Given the description of an element on the screen output the (x, y) to click on. 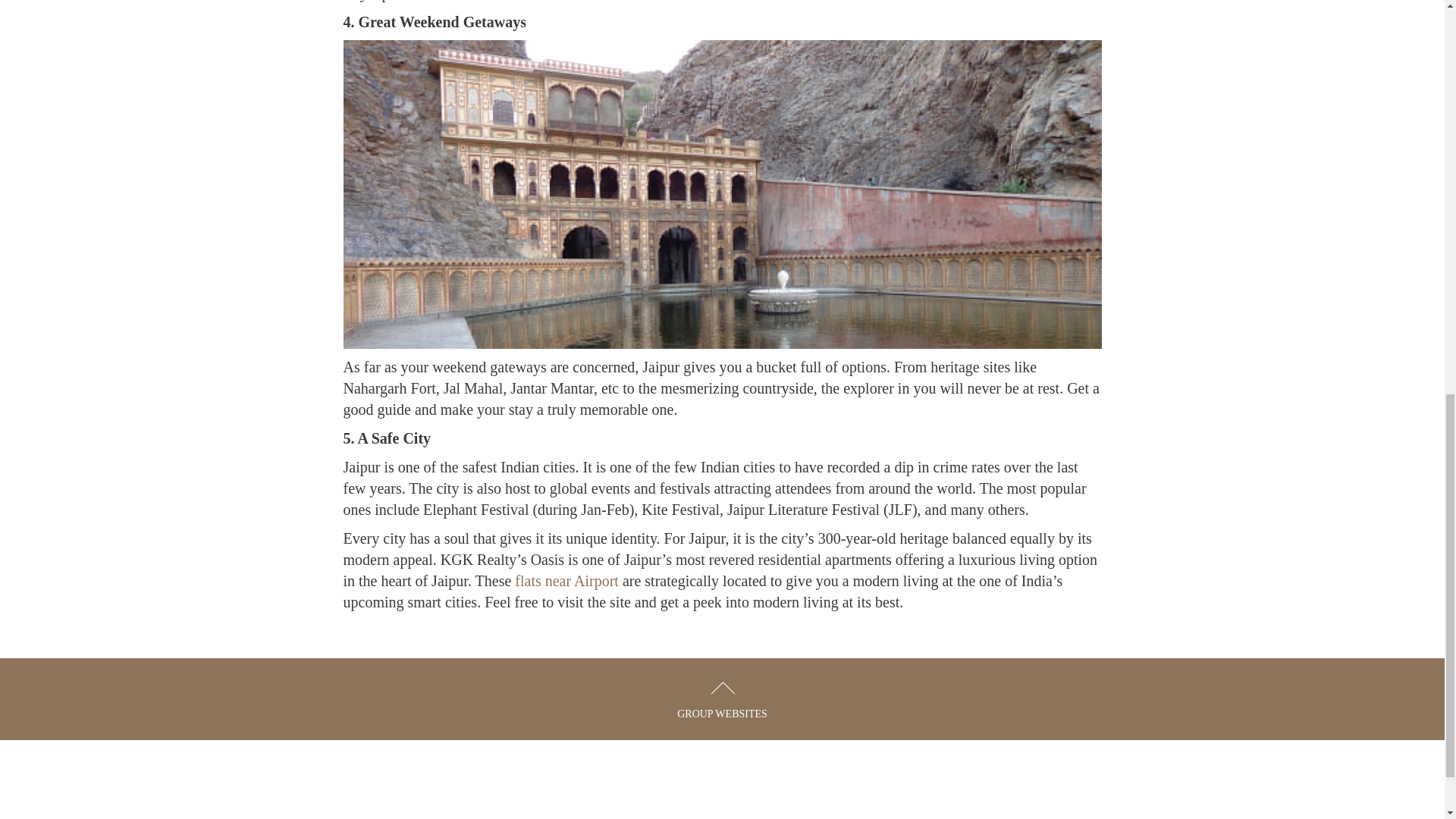
ABOUT (485, 786)
NEWS (558, 786)
ENGLISH (942, 786)
CONTACT (786, 786)
CSR (622, 786)
CAREERS (697, 786)
flats near Airport (566, 580)
BLOG (864, 786)
